Given the description of an element on the screen output the (x, y) to click on. 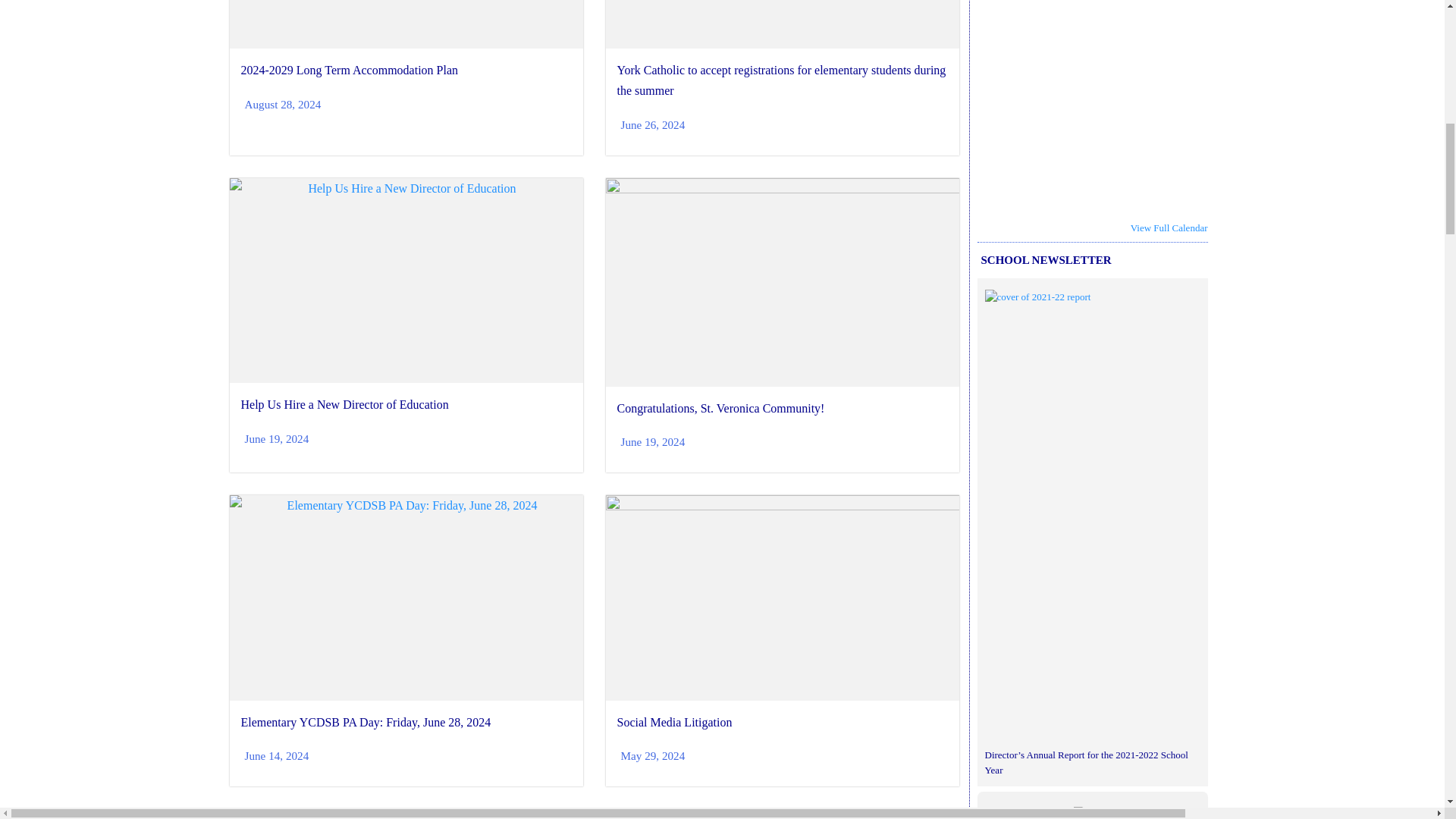
2024-2029 Long Term Accommodation Plan (349, 69)
Help Us Hire a New Director of Education (344, 404)
Congratulations, St. Veronica Community! (721, 408)
MORE NEWS (593, 814)
Elementary YCDSB PA Day: Friday, June 28, 2024 (366, 721)
